Given the description of an element on the screen output the (x, y) to click on. 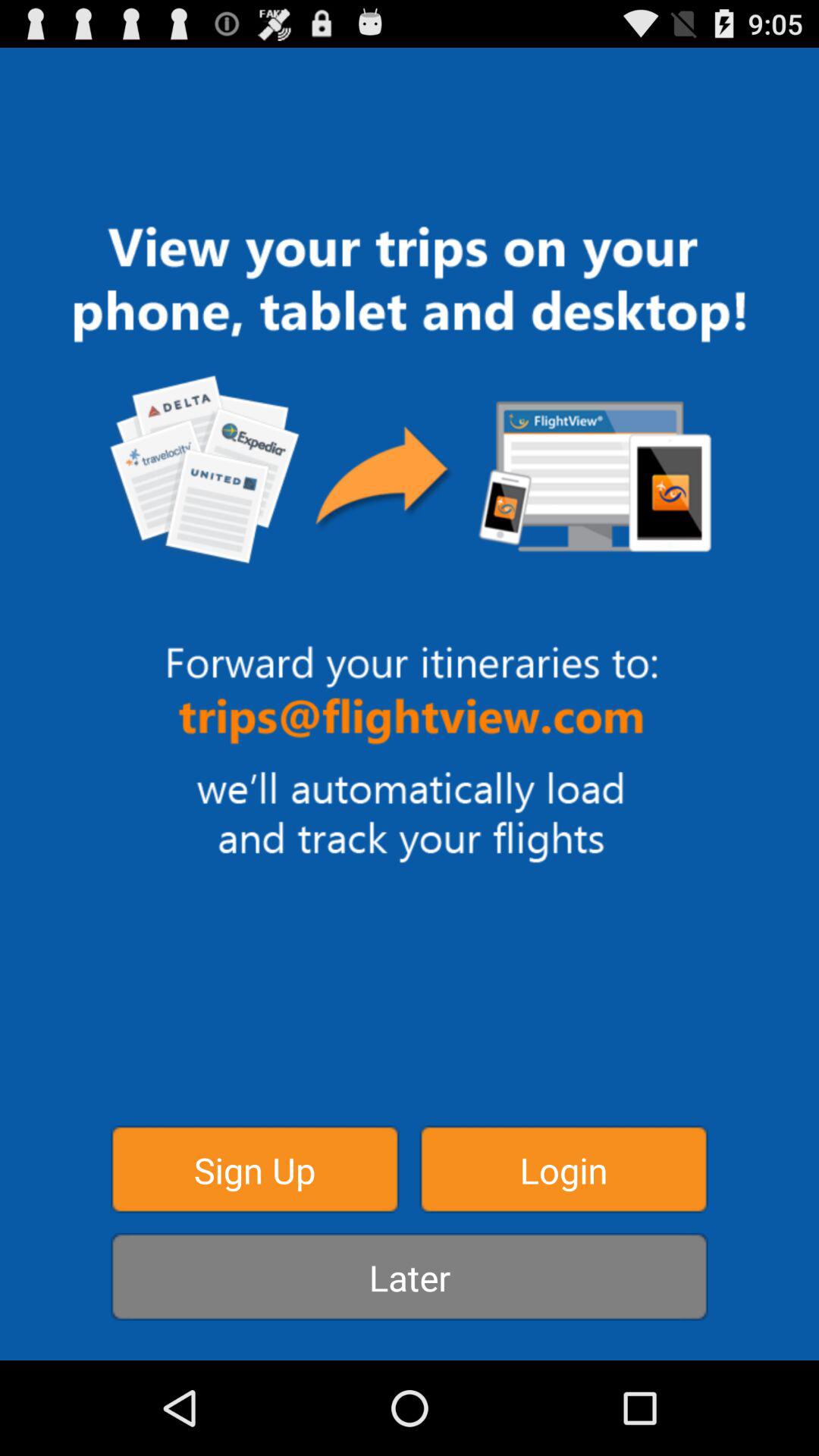
open the button at the bottom left corner (254, 1169)
